Given the description of an element on the screen output the (x, y) to click on. 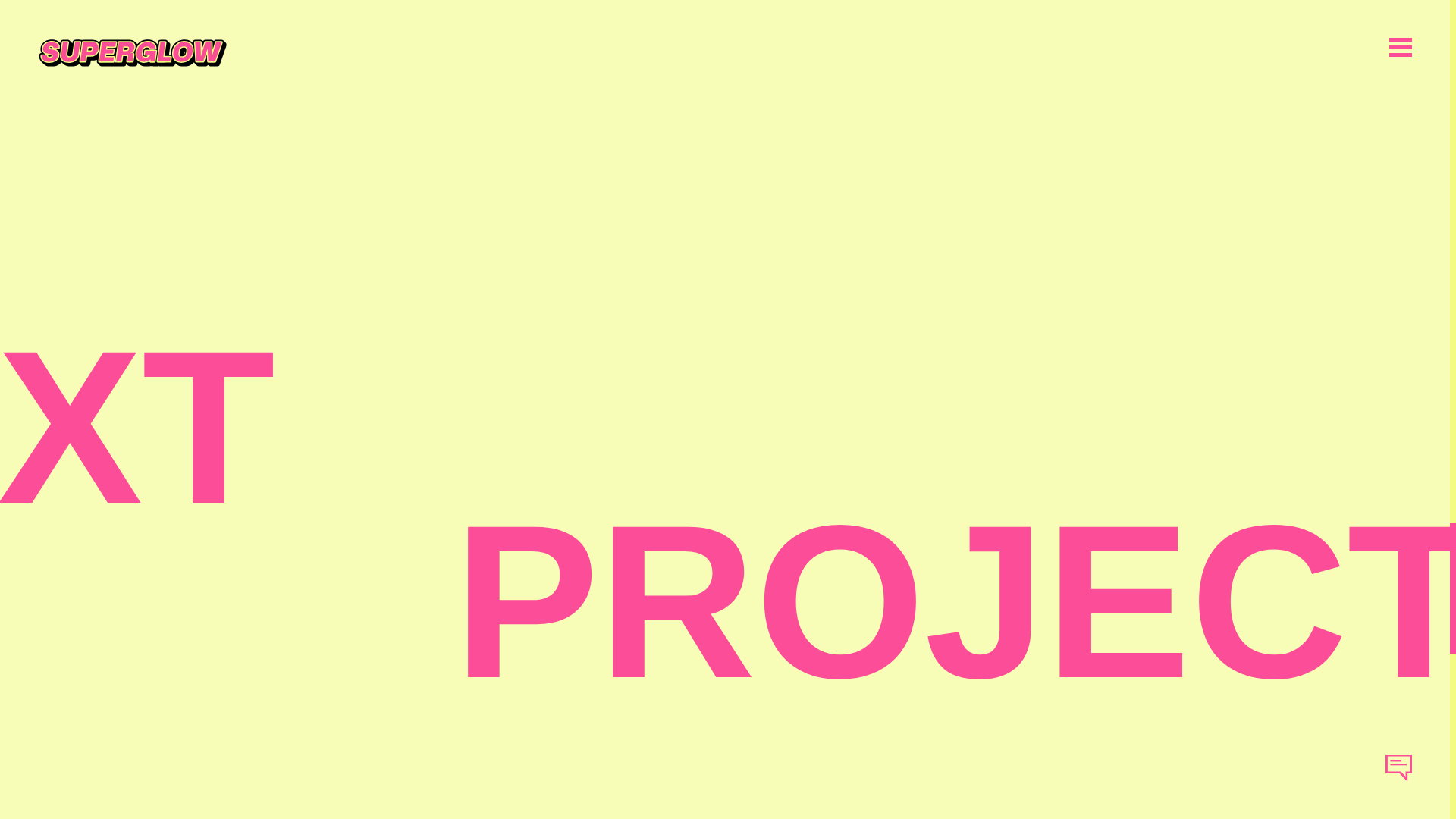
NEXT (137, 426)
